Given the description of an element on the screen output the (x, y) to click on. 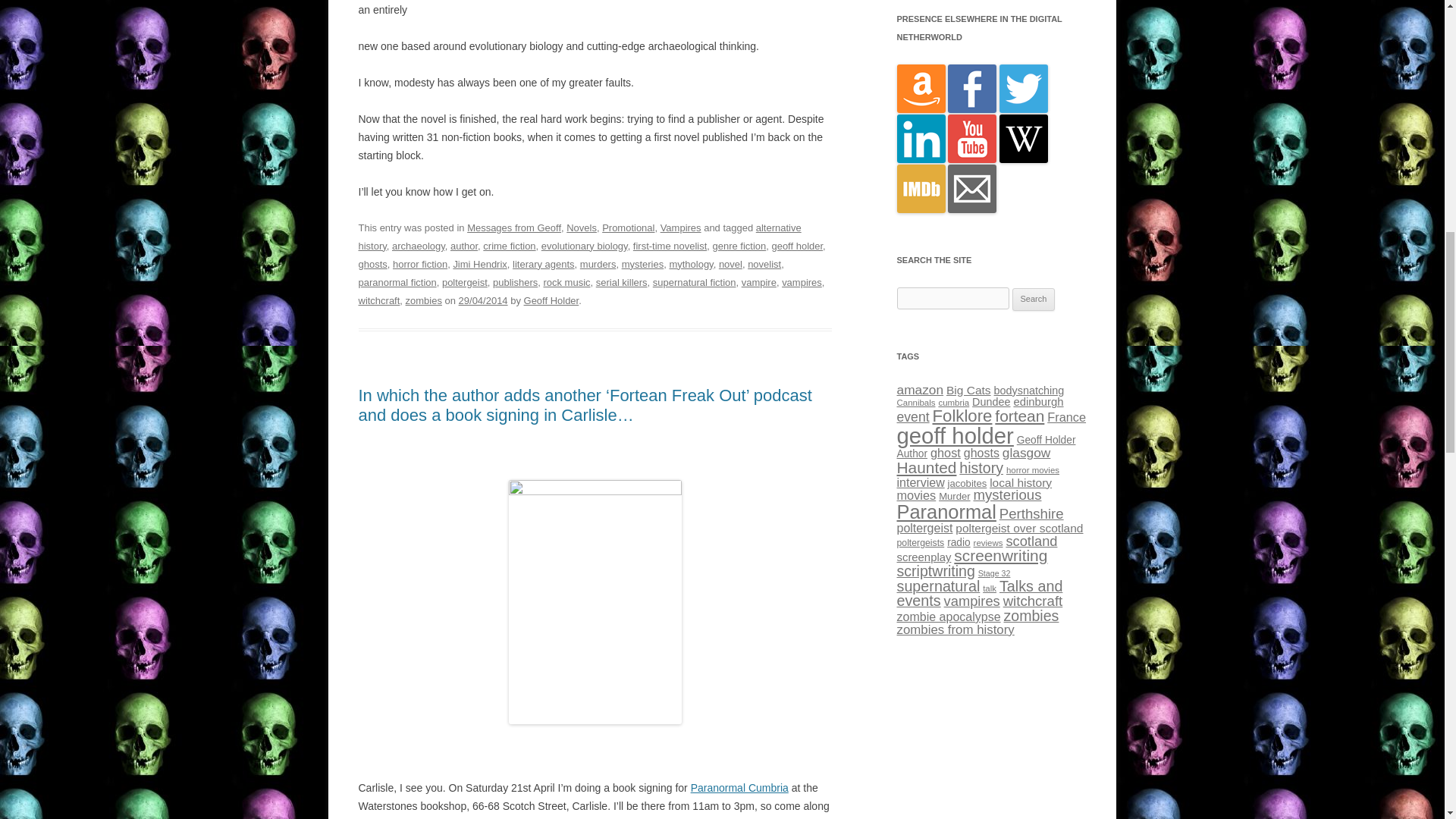
paranormal fiction (396, 282)
12:24 pm (483, 300)
evolutionary biology (584, 245)
Novels (581, 227)
Search (1033, 299)
amazon (920, 109)
Jimi Hendrix (479, 264)
author (463, 245)
murders (597, 264)
Vampires (681, 227)
